Given the description of an element on the screen output the (x, y) to click on. 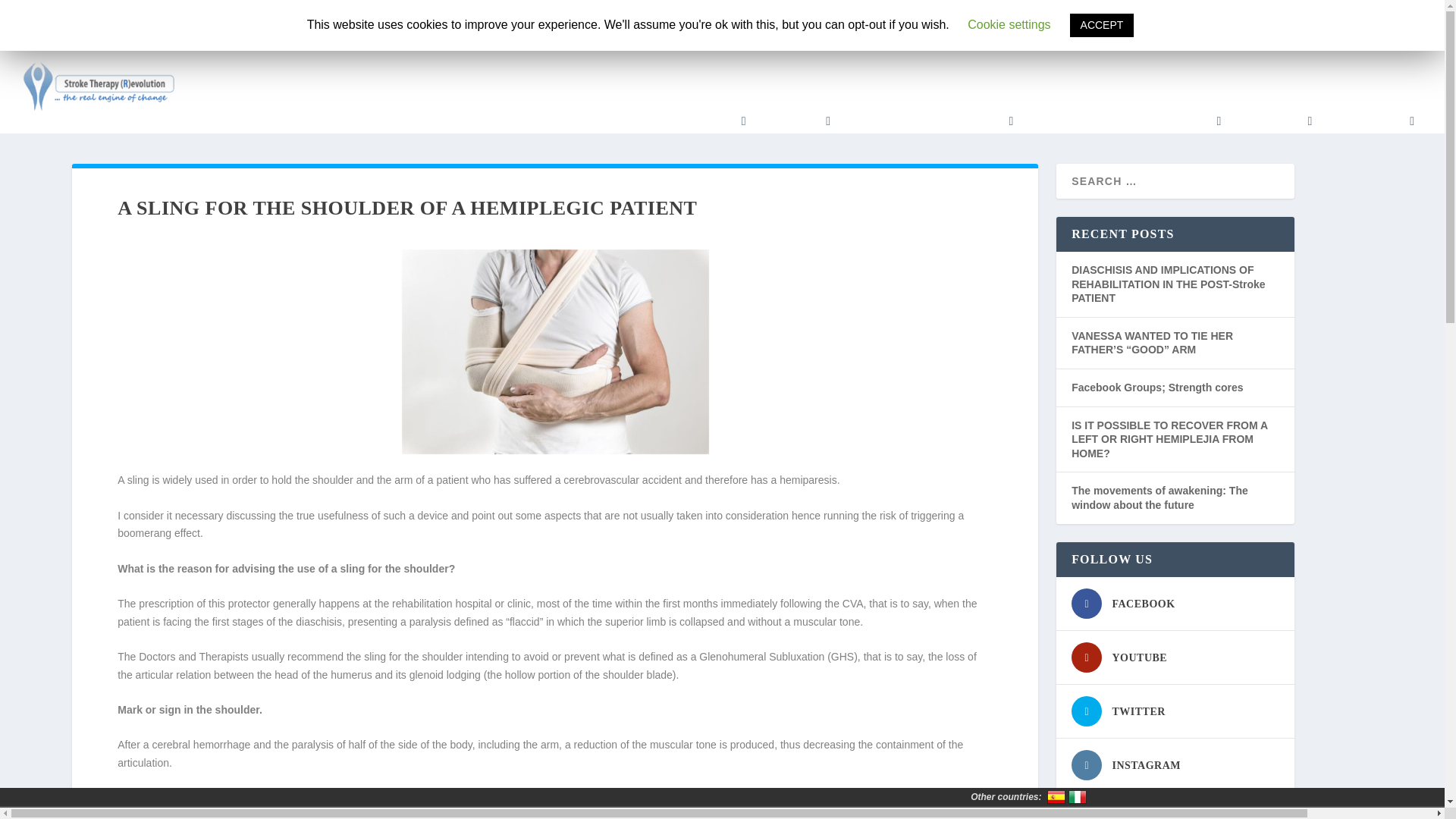
UNDERSTANDING STROKE (929, 120)
WHO WE ARE? (697, 120)
0 Items in Cart (1171, 19)
Search for: (1081, 18)
0 ITEMS (1171, 19)
TELE-REHABILITATION: the revolution of post-stroke ther... (471, 19)
UNDERSTANDING HEMIPLEGIA (1124, 120)
SERVICES (795, 120)
